Given the description of an element on the screen output the (x, y) to click on. 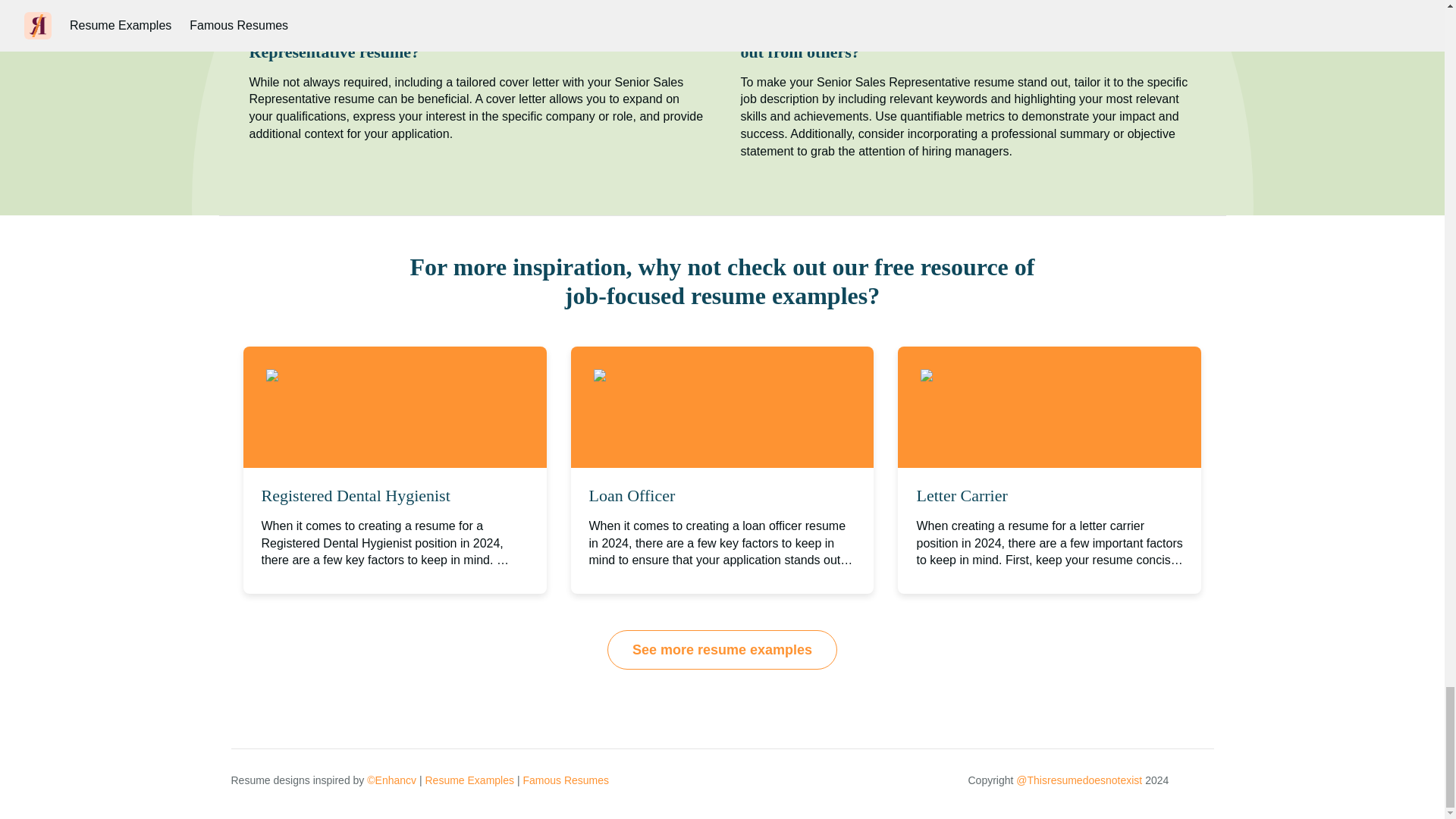
See more resume examples (722, 649)
Resume Examples (469, 779)
Registered Dental Hygienist's resume (379, 376)
Letter Carrier's resume (998, 376)
Loan Officer's resume (668, 376)
Famous Resumes (565, 779)
